Given the description of an element on the screen output the (x, y) to click on. 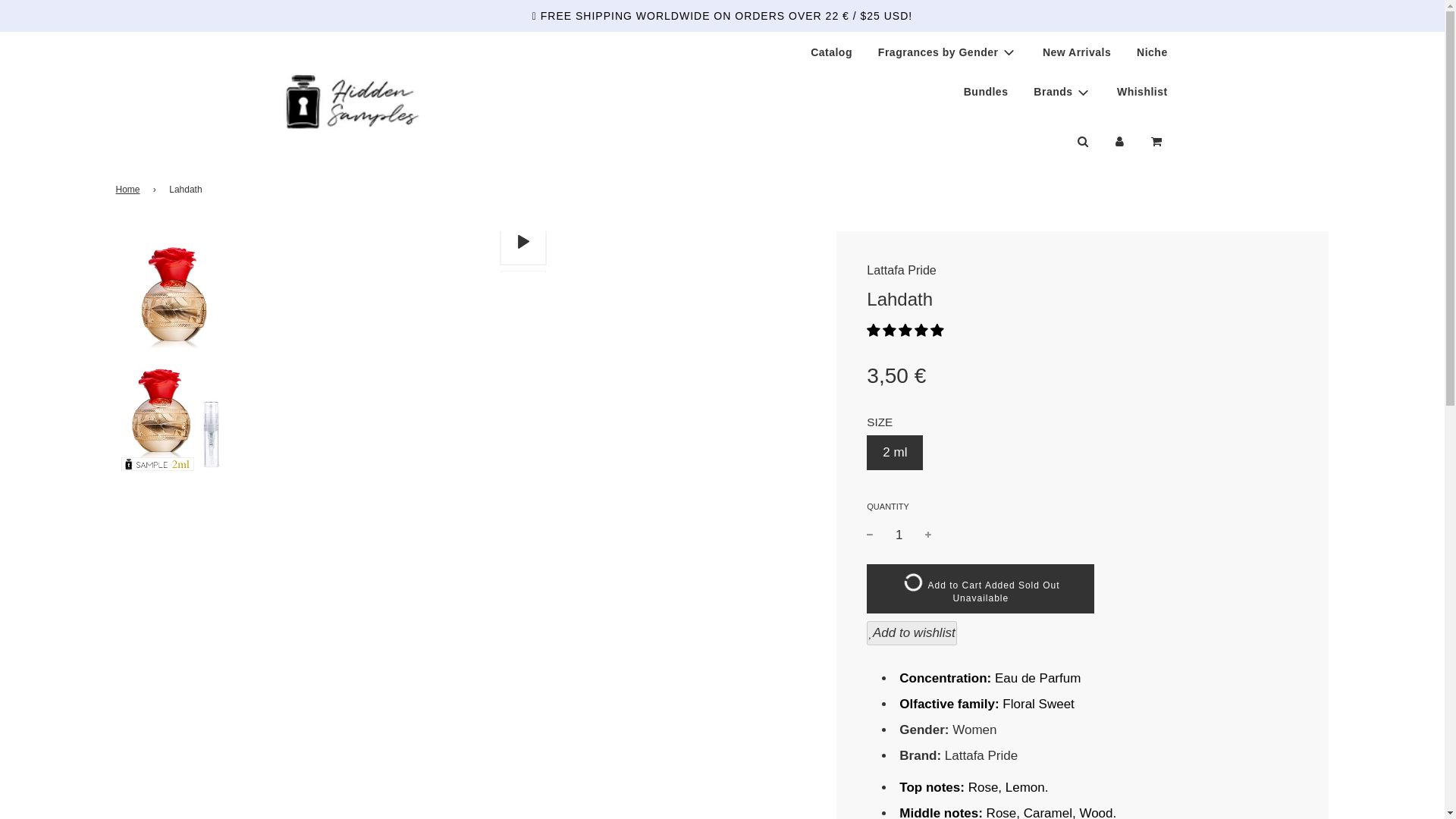
Lattafa Pride (901, 269)
1 (898, 534)
Fragrances by Gender (946, 51)
Back to the frontpage (129, 189)
Log in (1119, 140)
Catalog (831, 52)
